Given the description of an element on the screen output the (x, y) to click on. 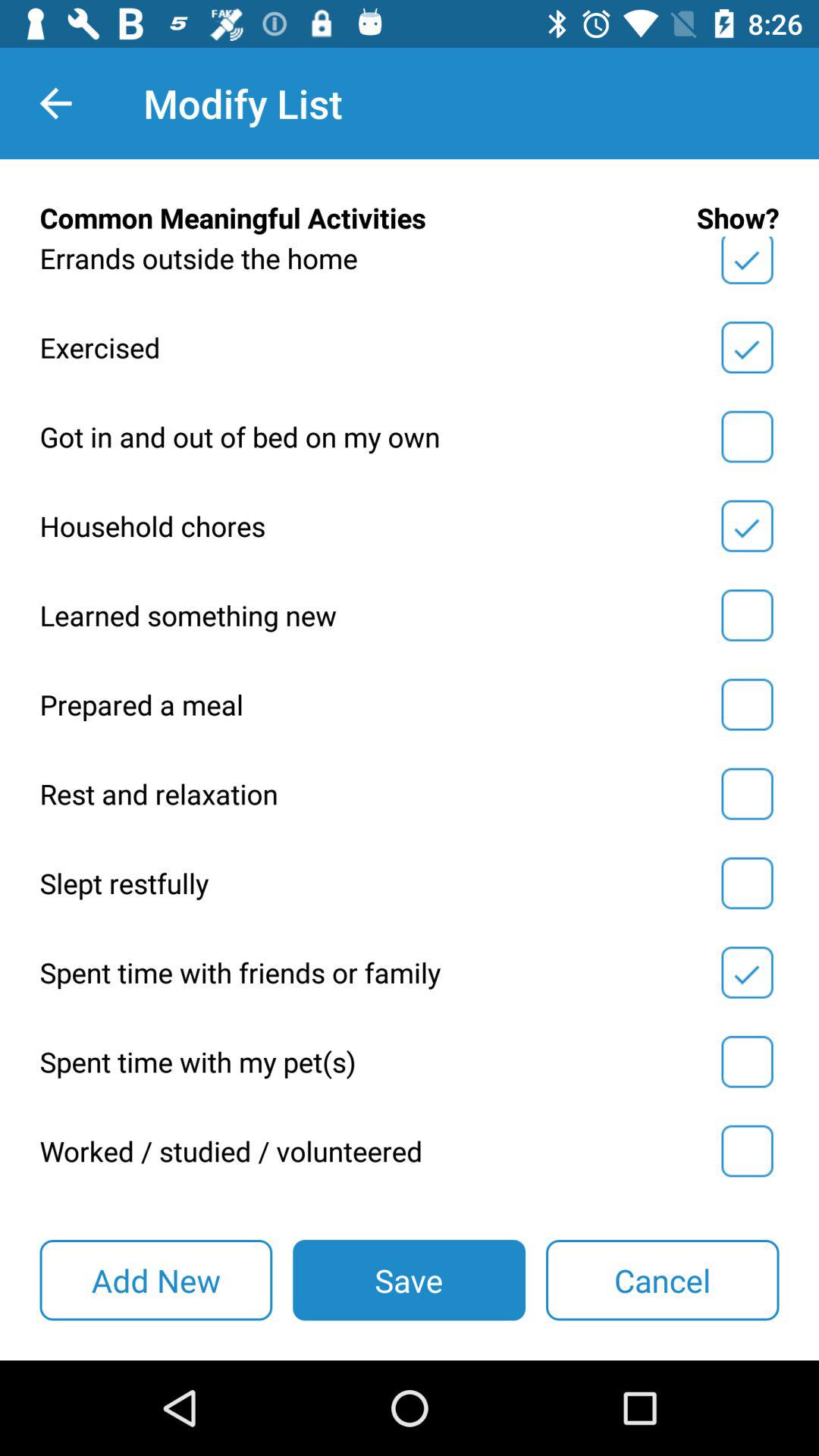
toggle rest and relaxation (747, 793)
